Given the description of an element on the screen output the (x, y) to click on. 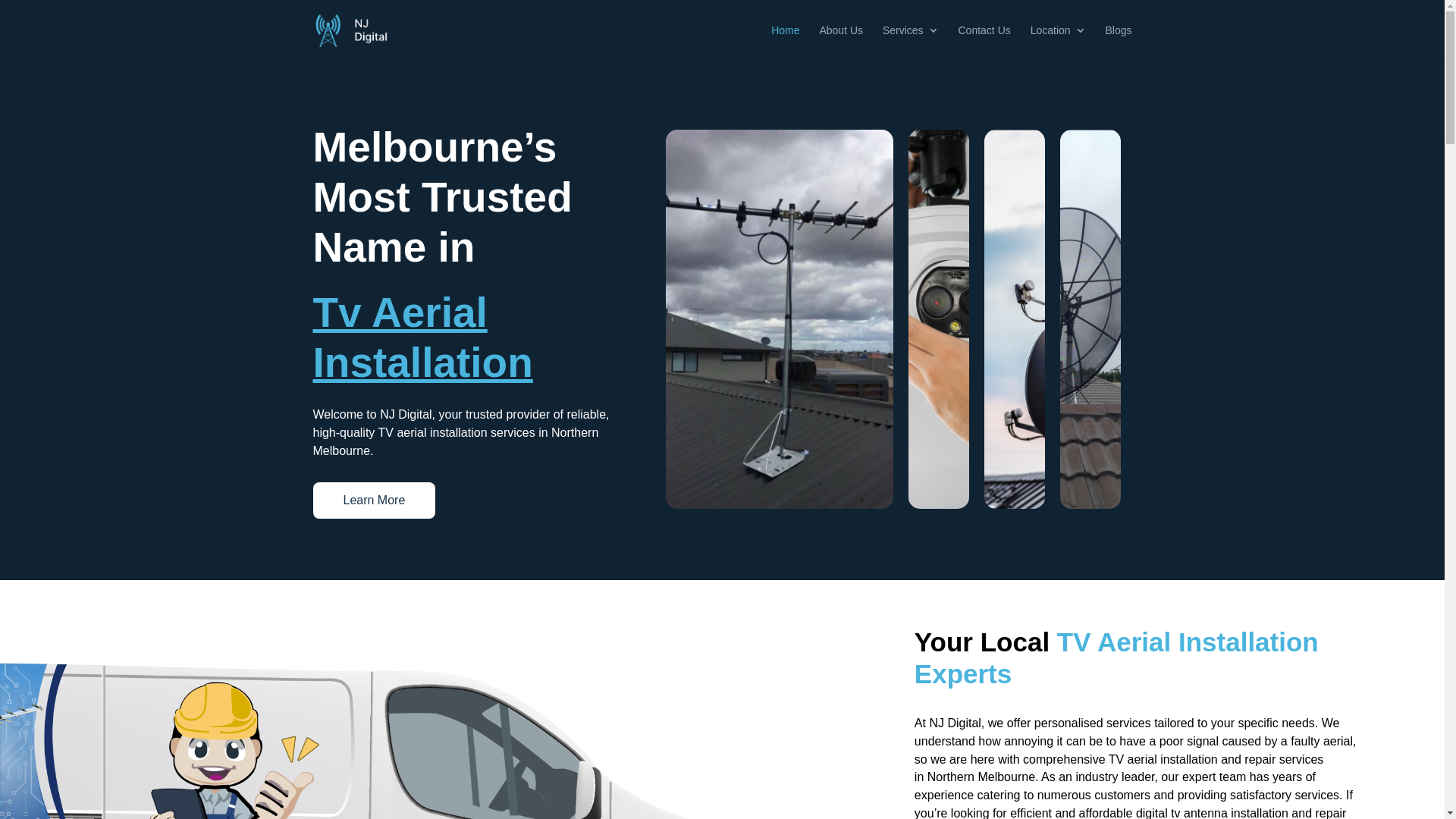
Blogs Element type: text (1117, 42)
Contact Us Element type: text (984, 42)
Learn More Element type: text (373, 499)
Location Element type: text (1057, 42)
Services Element type: text (910, 42)
Home Element type: text (785, 42)
About Us Element type: text (840, 42)
